Given the description of an element on the screen output the (x, y) to click on. 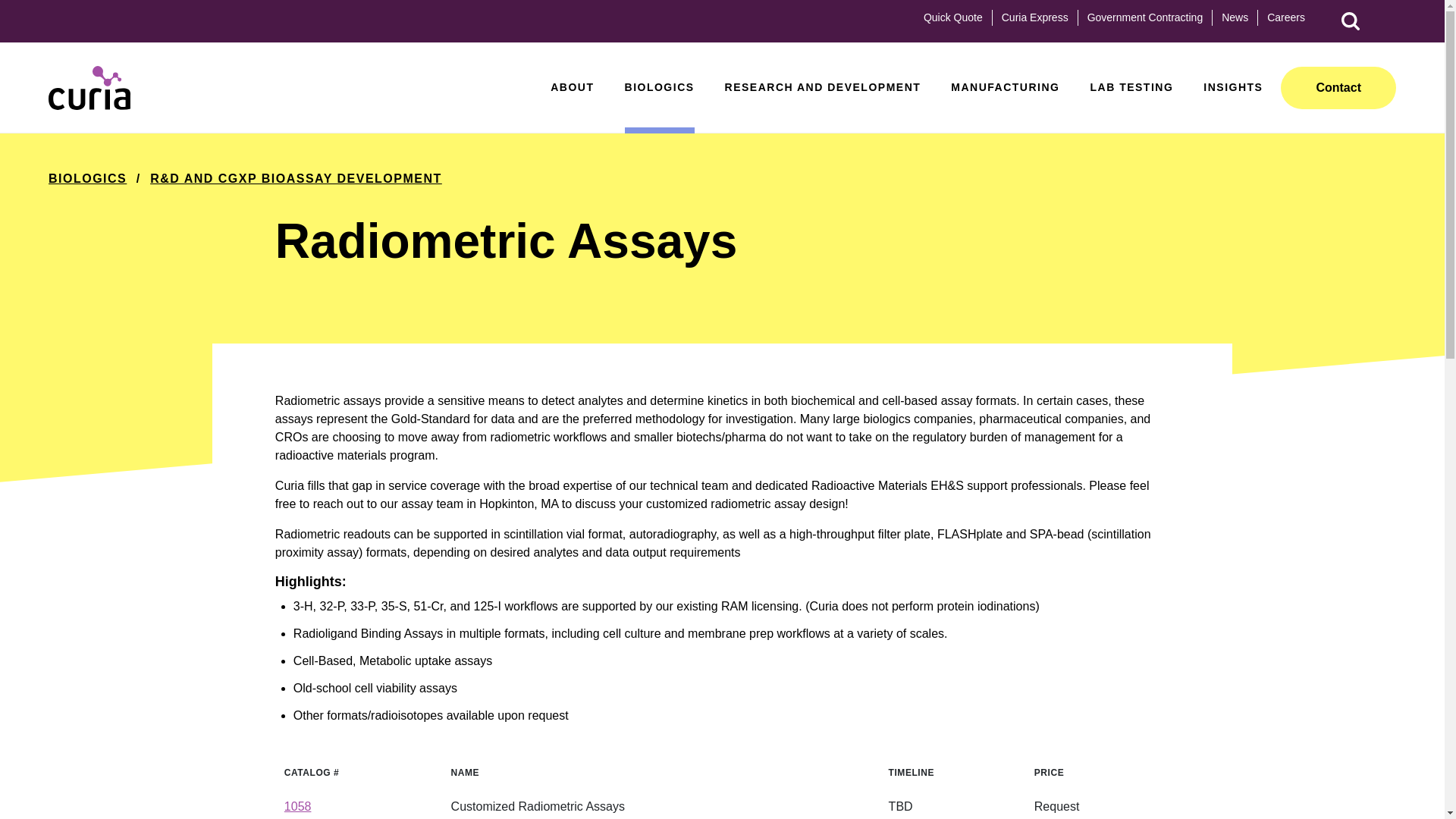
MANUFACTURING (1004, 106)
Contact (1338, 87)
Government Contracting (1145, 16)
News (1234, 16)
INSIGHTS (1233, 106)
RESEARCH AND DEVELOPMENT (823, 106)
BIOLOGICS (659, 106)
Quick Quote (952, 16)
LAB TESTING (1131, 106)
Careers (1285, 16)
Curia Express (1034, 16)
